Given the description of an element on the screen output the (x, y) to click on. 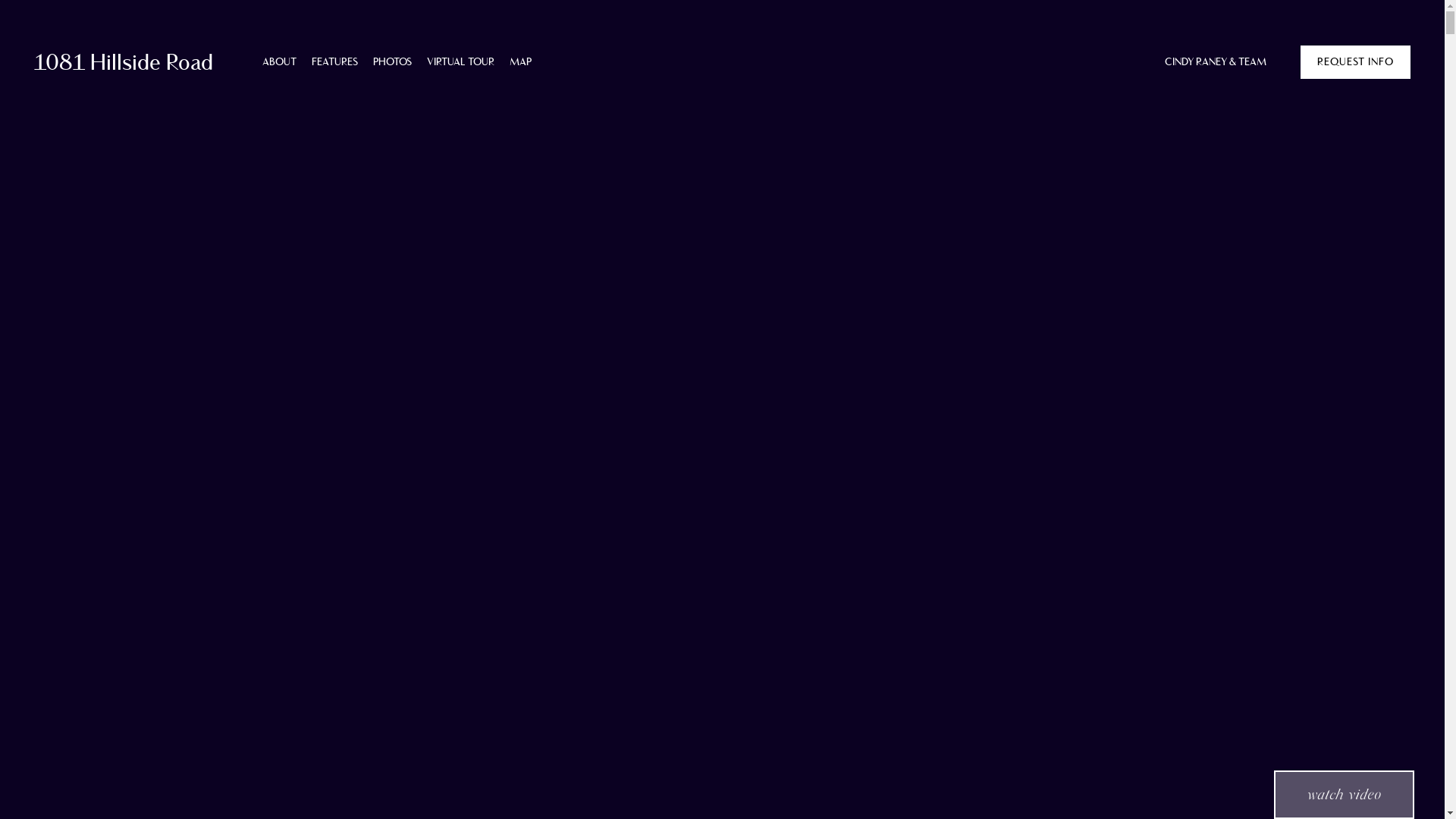
PHOTOS Element type: text (392, 61)
MAP Element type: text (520, 61)
ABOUT Element type: text (279, 61)
FEATURES Element type: text (334, 61)
VIRTUAL TOUR Element type: text (460, 61)
CINDY RANEY & TEAM Element type: text (1215, 61)
1081 Hillside Road Element type: text (123, 61)
